Given the description of an element on the screen output the (x, y) to click on. 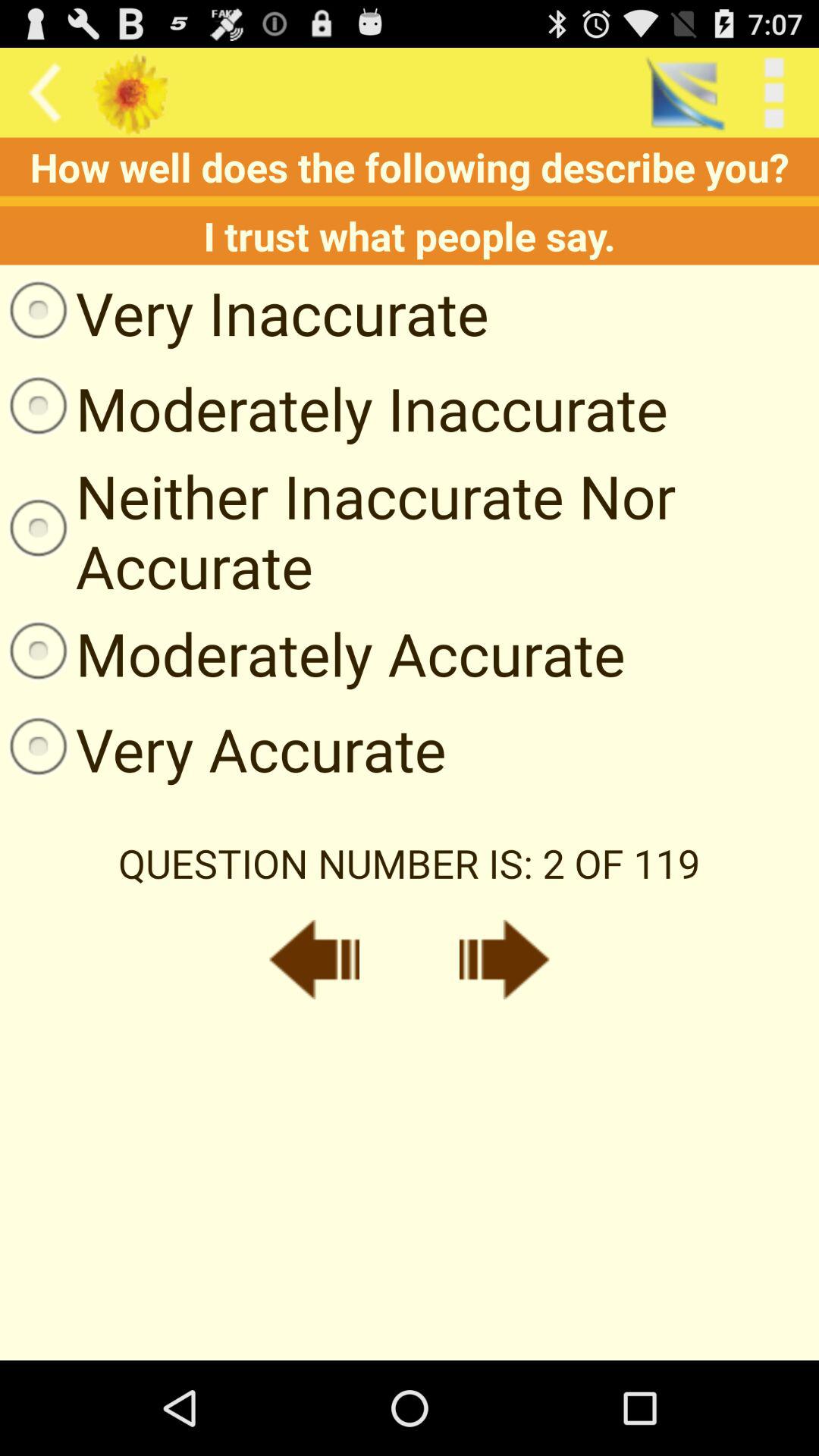
choose the moderately inaccurate item (334, 408)
